Given the description of an element on the screen output the (x, y) to click on. 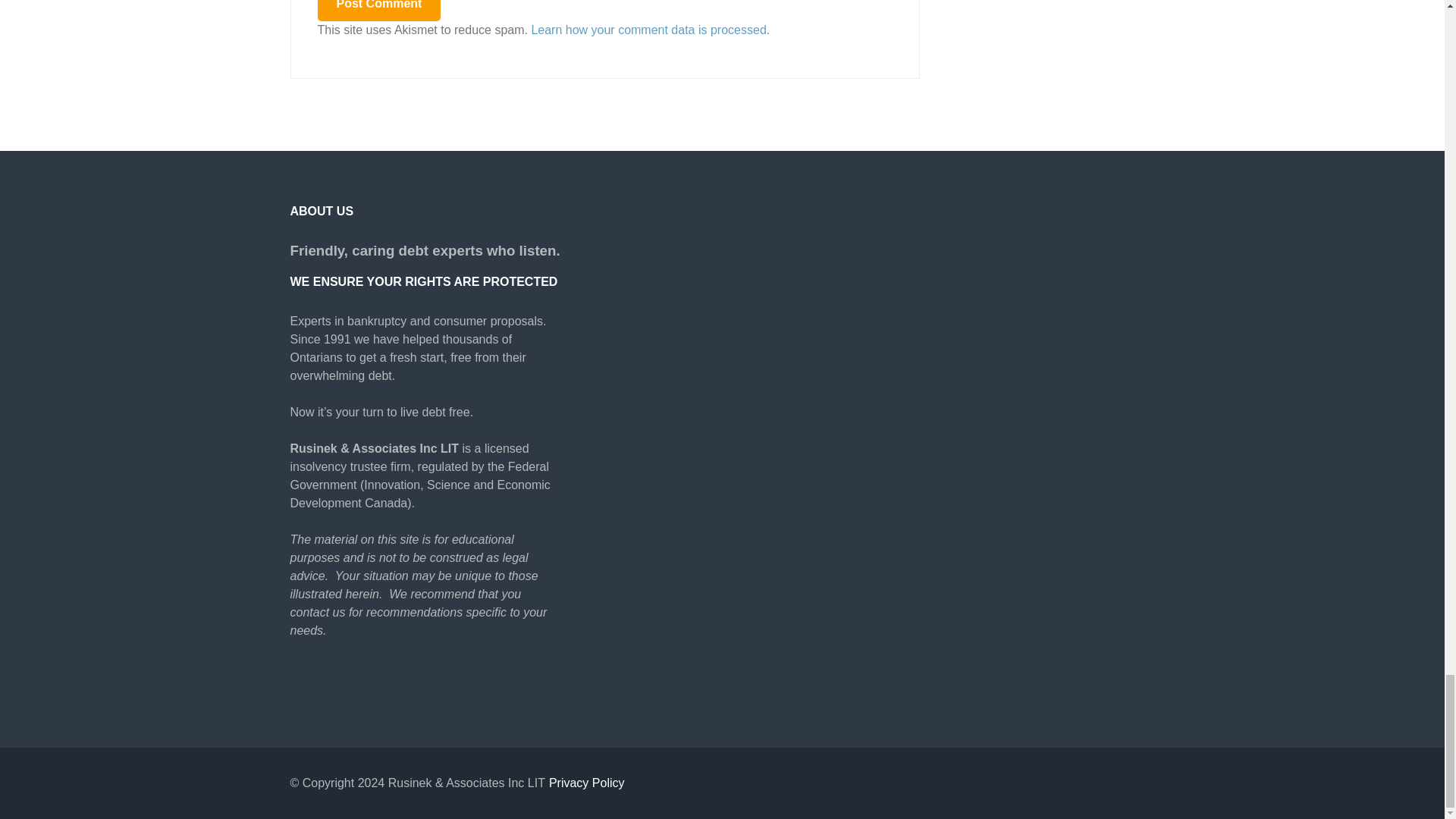
Post Comment (379, 10)
